Given the description of an element on the screen output the (x, y) to click on. 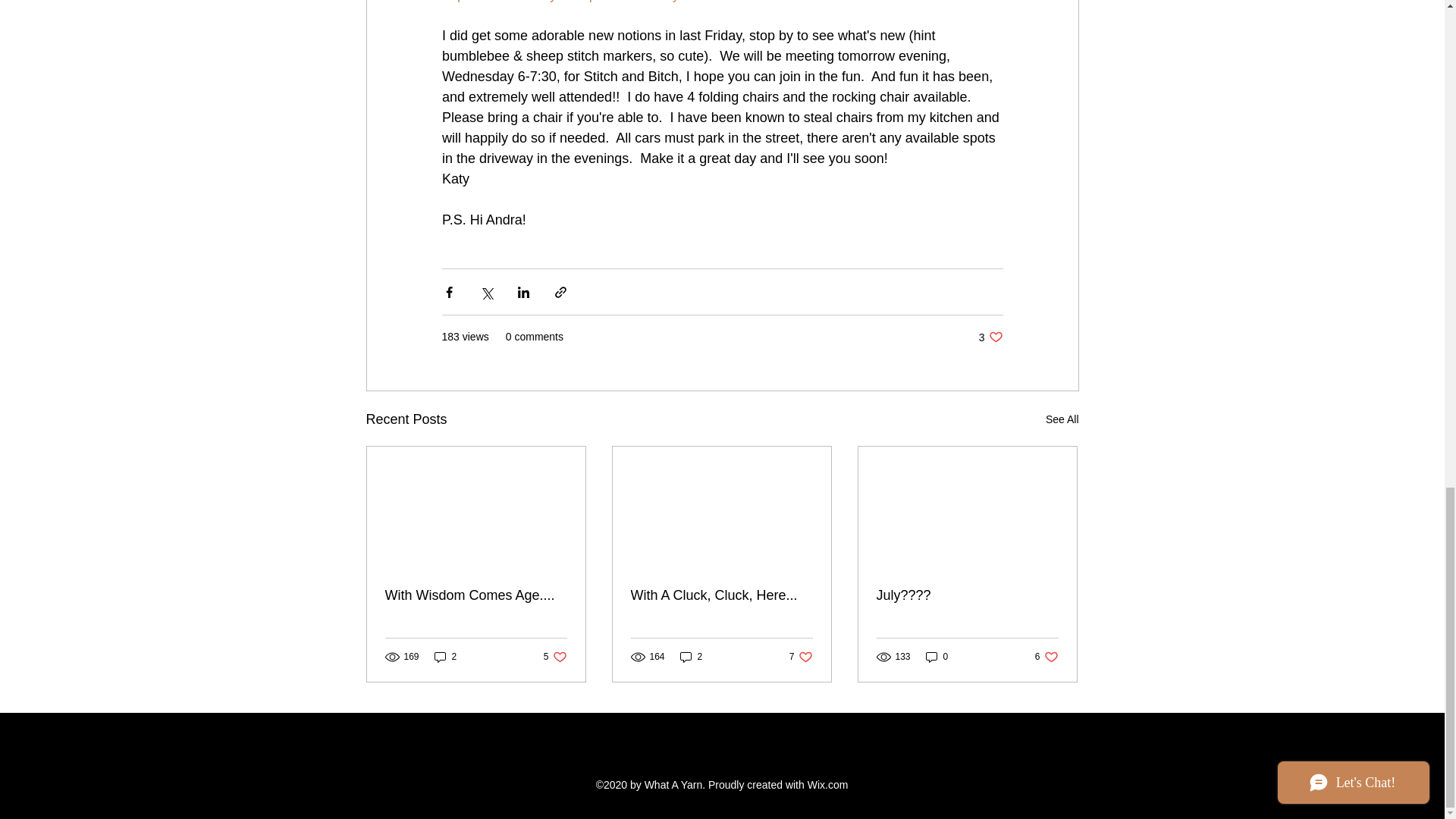
0 (990, 336)
With A Cluck, Cluck, Here... (937, 657)
2 (721, 595)
July???? (1046, 657)
With Wisdom Comes Age.... (445, 657)
2 (967, 595)
See All (476, 595)
